Given the description of an element on the screen output the (x, y) to click on. 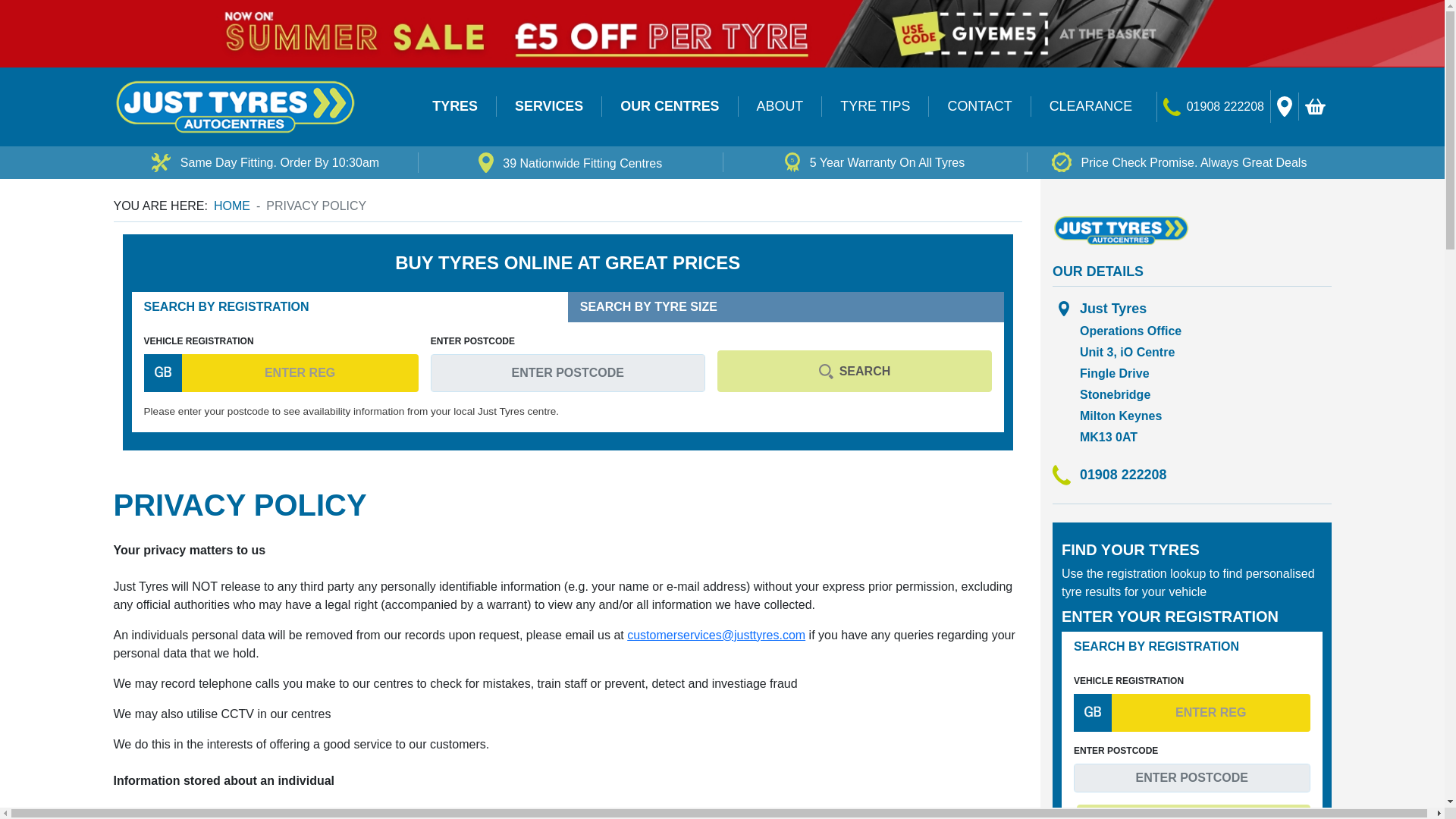
TYRES (454, 106)
Contact Us (1171, 107)
